Given the description of an element on the screen output the (x, y) to click on. 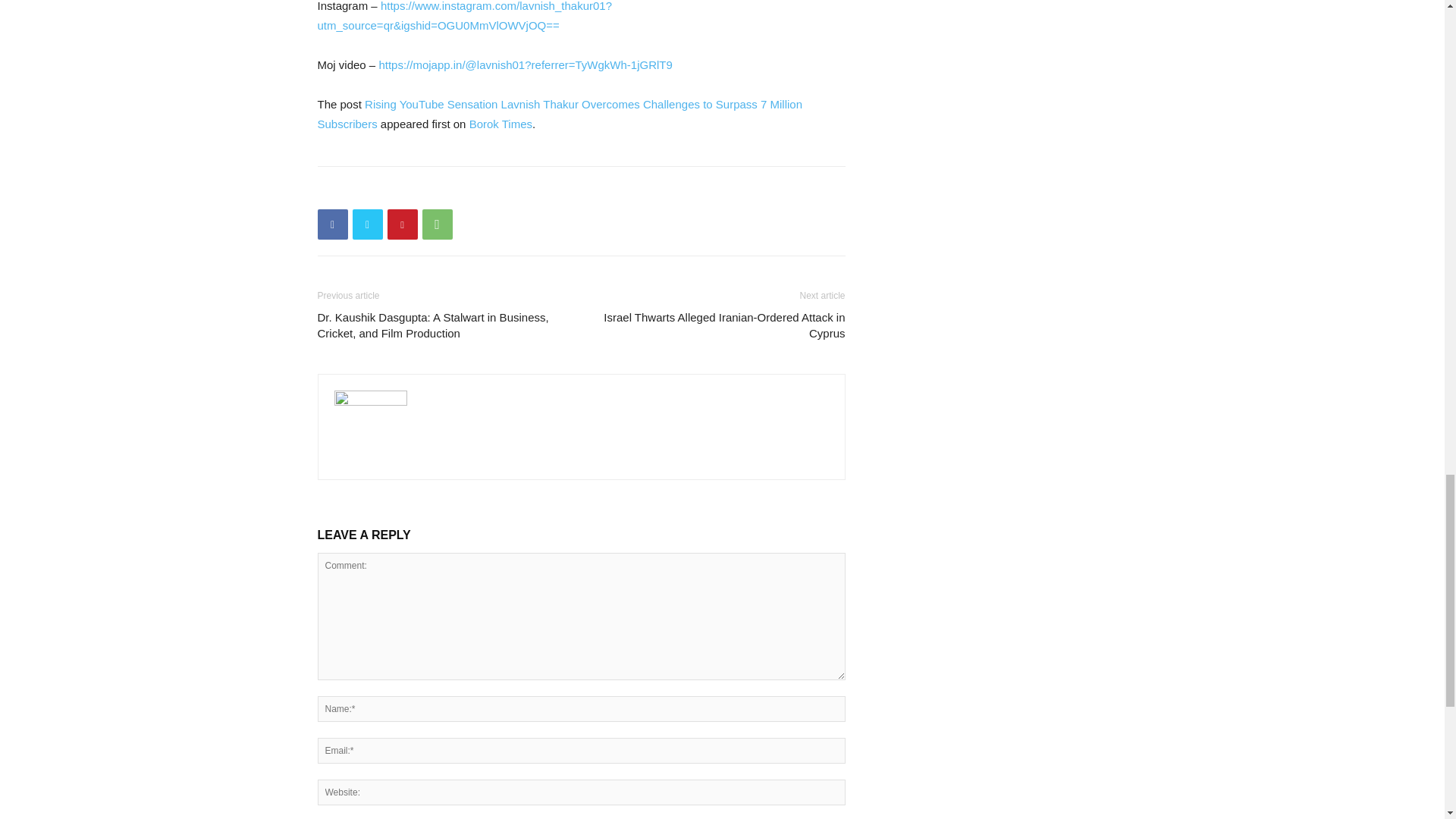
bottomFacebookLike (430, 190)
